Given the description of an element on the screen output the (x, y) to click on. 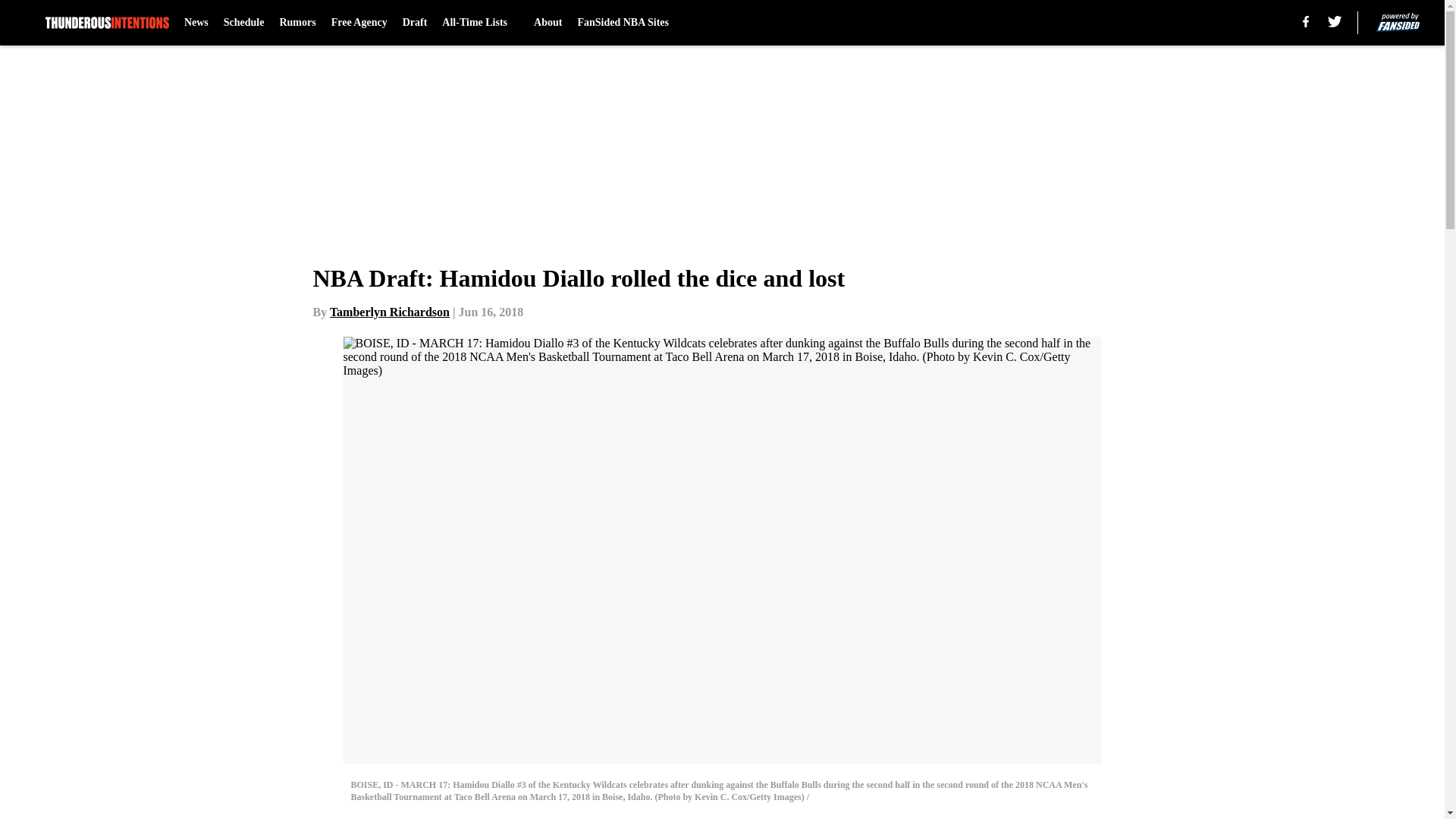
About (548, 22)
FanSided NBA Sites (622, 22)
Free Agency (359, 22)
Tamberlyn Richardson (389, 311)
All-Time Lists (480, 22)
Schedule (244, 22)
Rumors (297, 22)
Draft (415, 22)
News (196, 22)
